Given the description of an element on the screen output the (x, y) to click on. 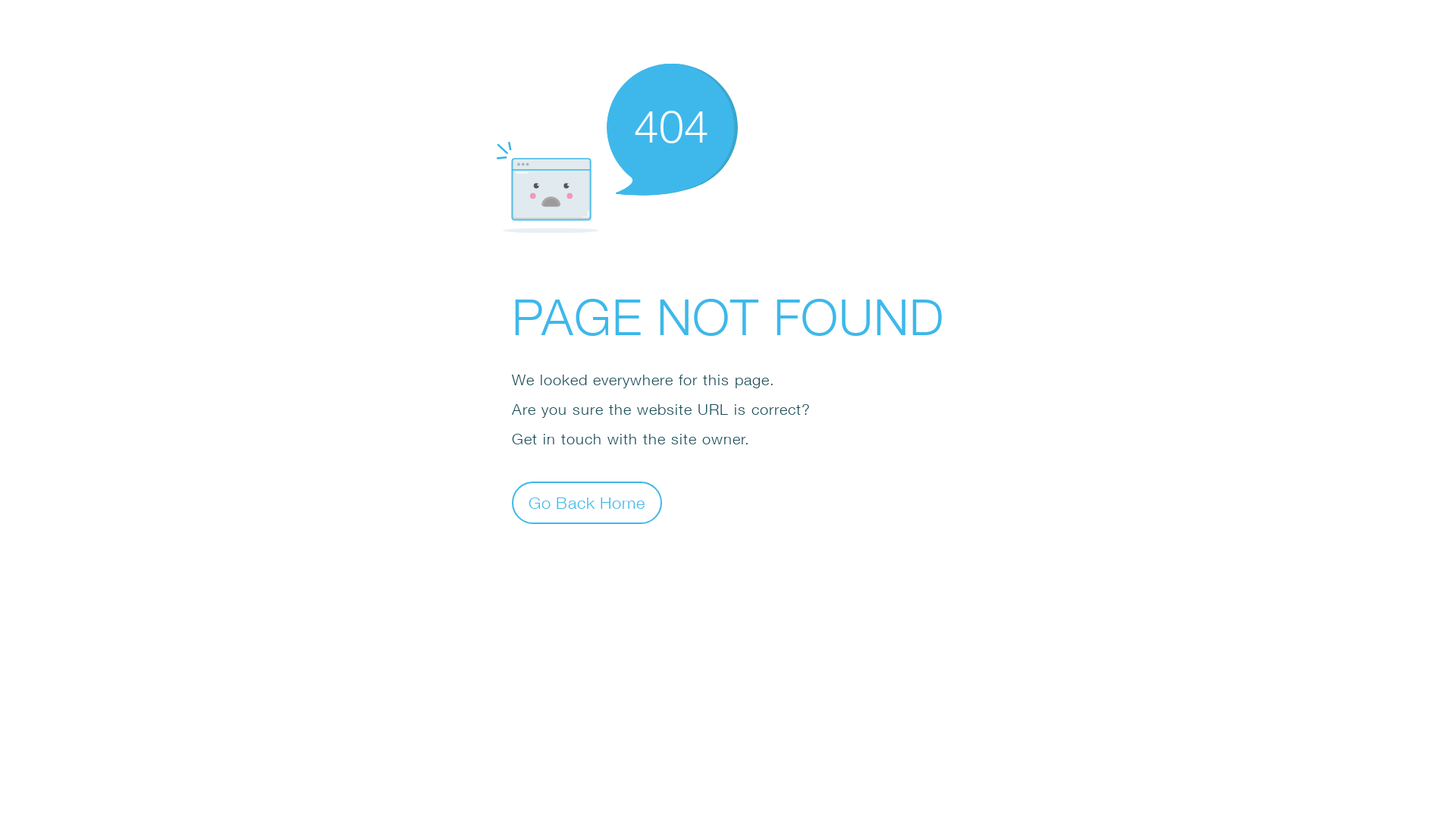
Go Back Home Element type: text (586, 502)
